Given the description of an element on the screen output the (x, y) to click on. 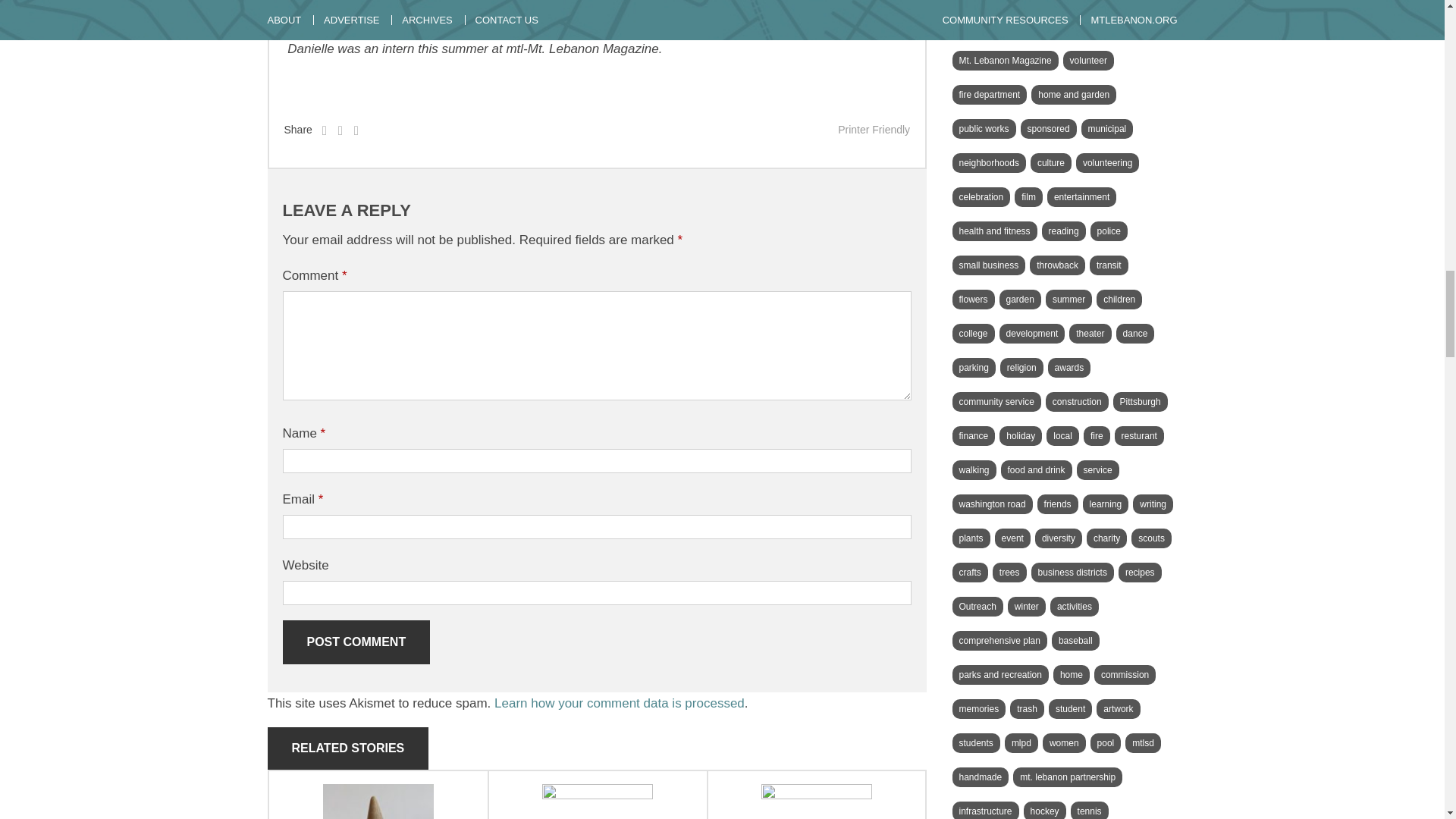
Printer Friendly (874, 129)
Post Comment (355, 641)
